Given the description of an element on the screen output the (x, y) to click on. 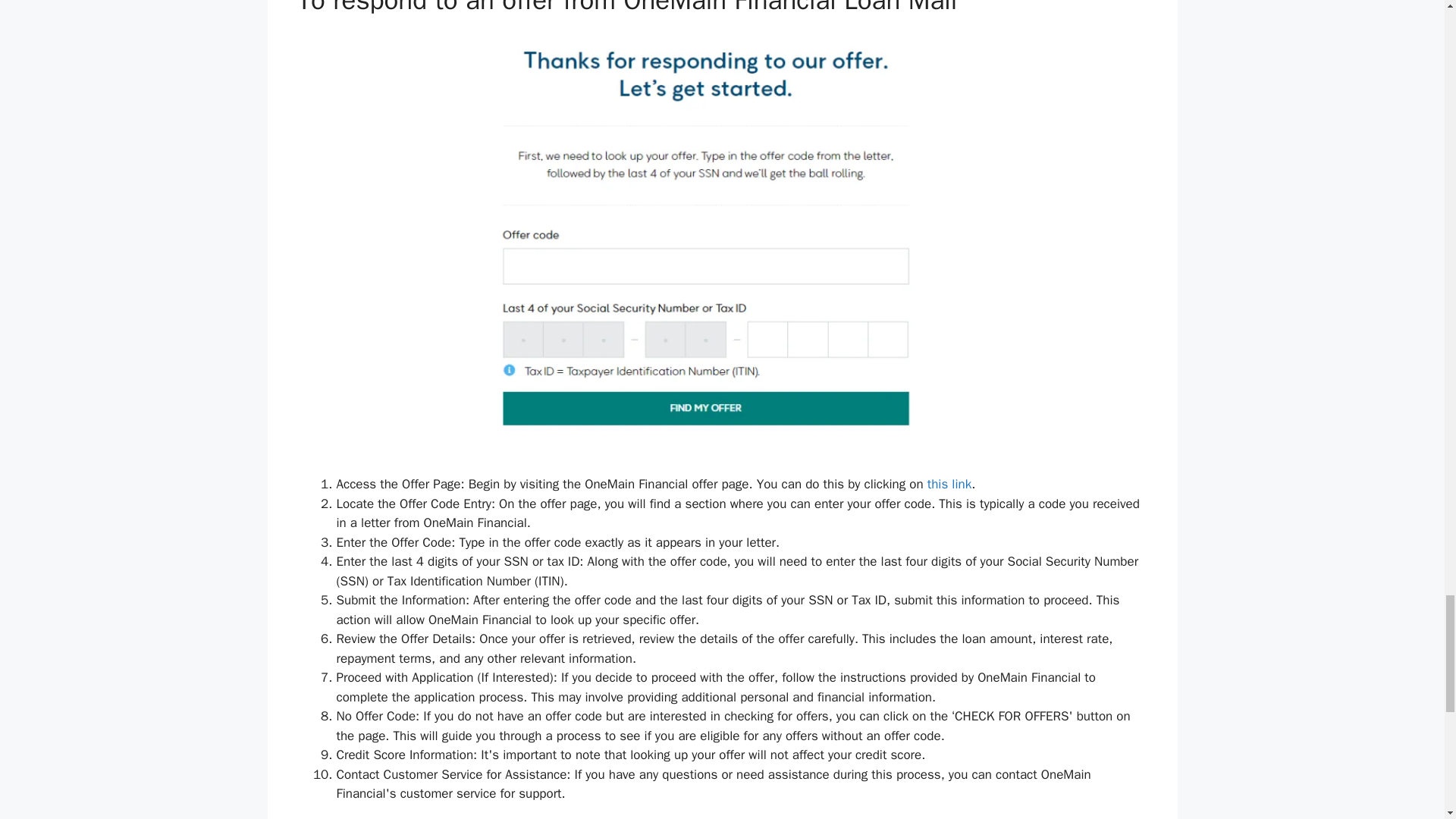
this link (949, 483)
